Given the description of an element on the screen output the (x, y) to click on. 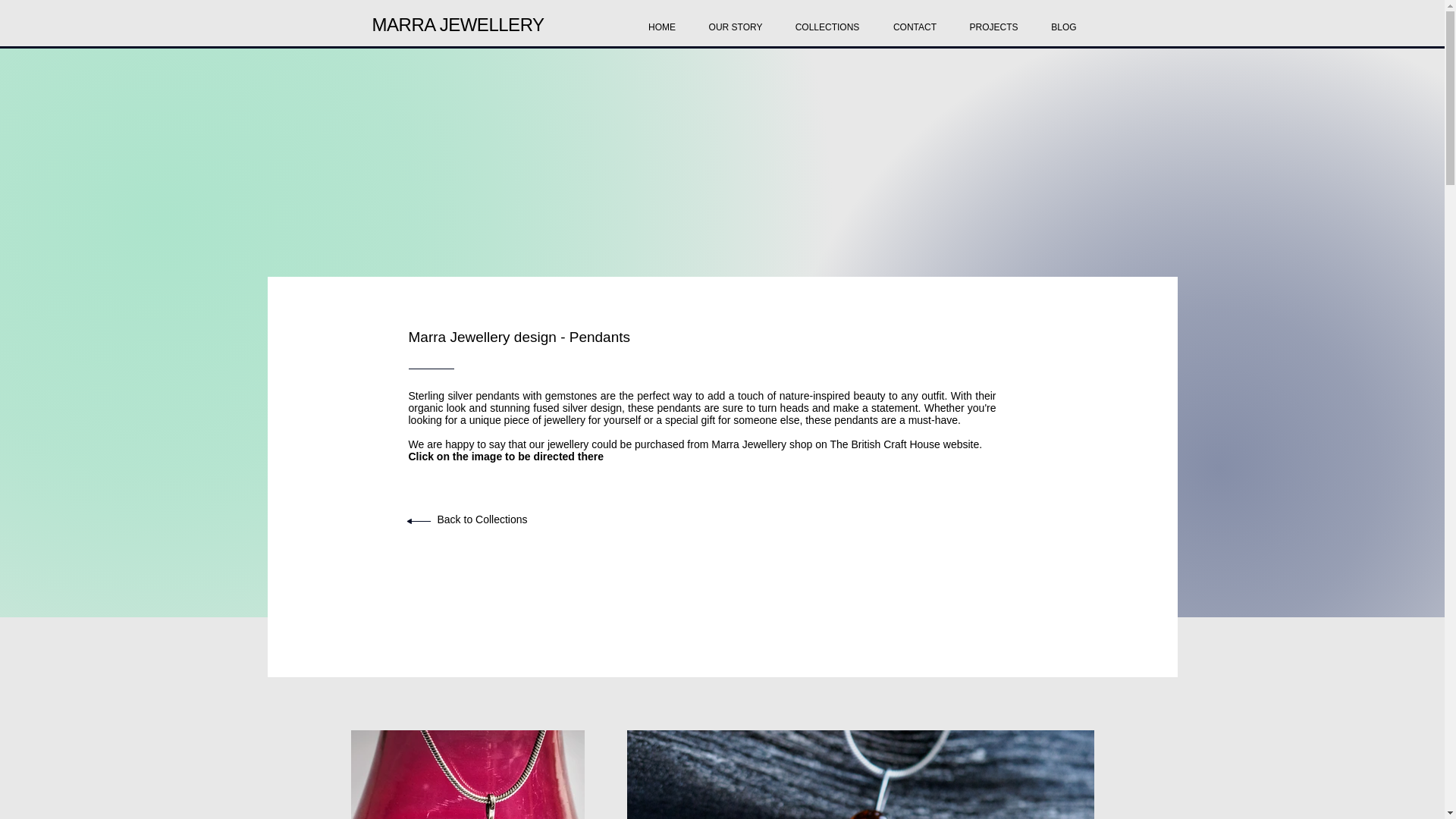
COLLECTIONS (826, 20)
OUR STORY (735, 20)
CONTACT (914, 20)
HOME (661, 20)
MARRA JEWELLERY (457, 24)
PROJECTS (993, 20)
Back to Collections (481, 519)
BLOG (1063, 20)
